Given the description of an element on the screen output the (x, y) to click on. 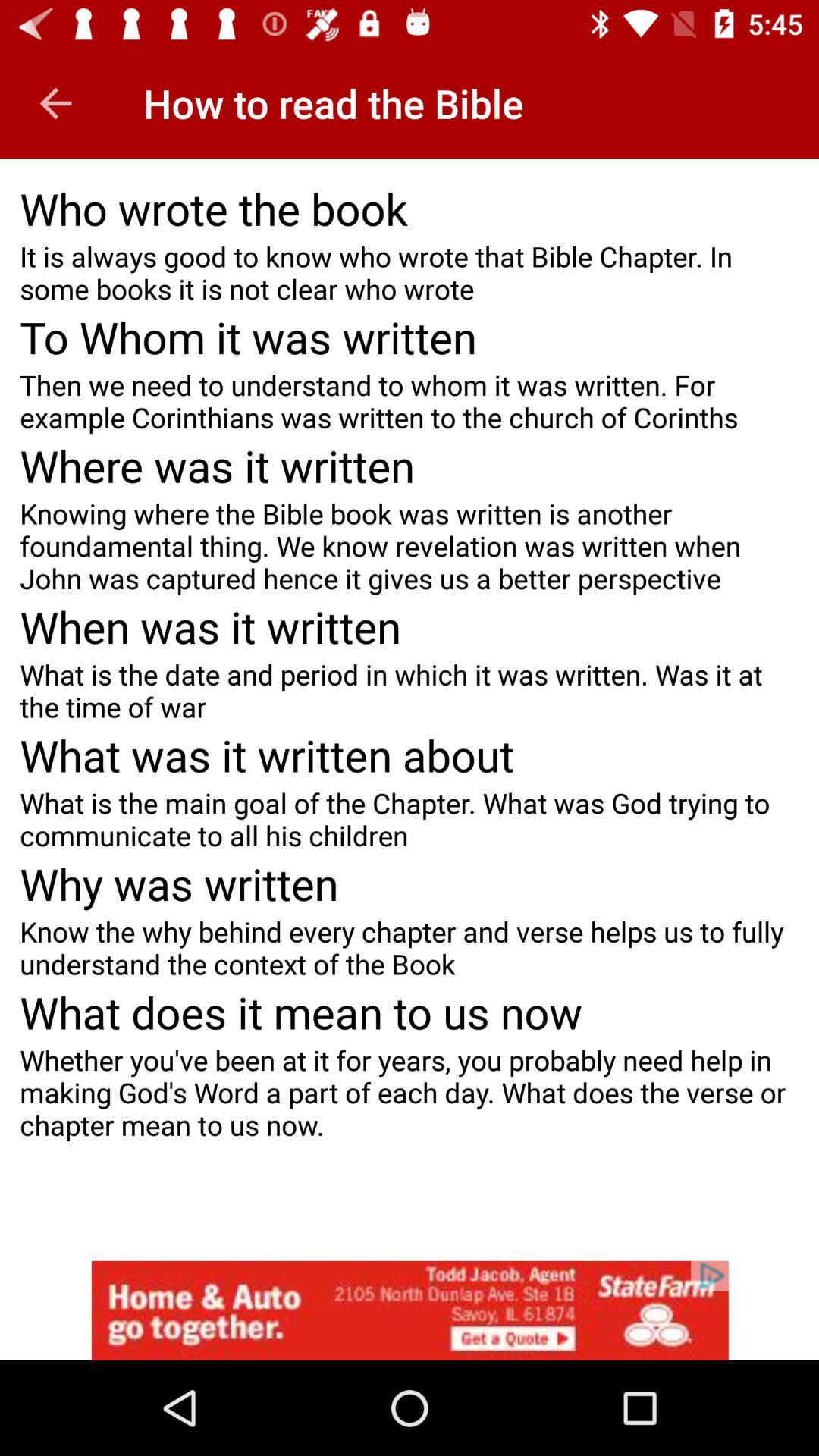
share the article (409, 1310)
